Given the description of an element on the screen output the (x, y) to click on. 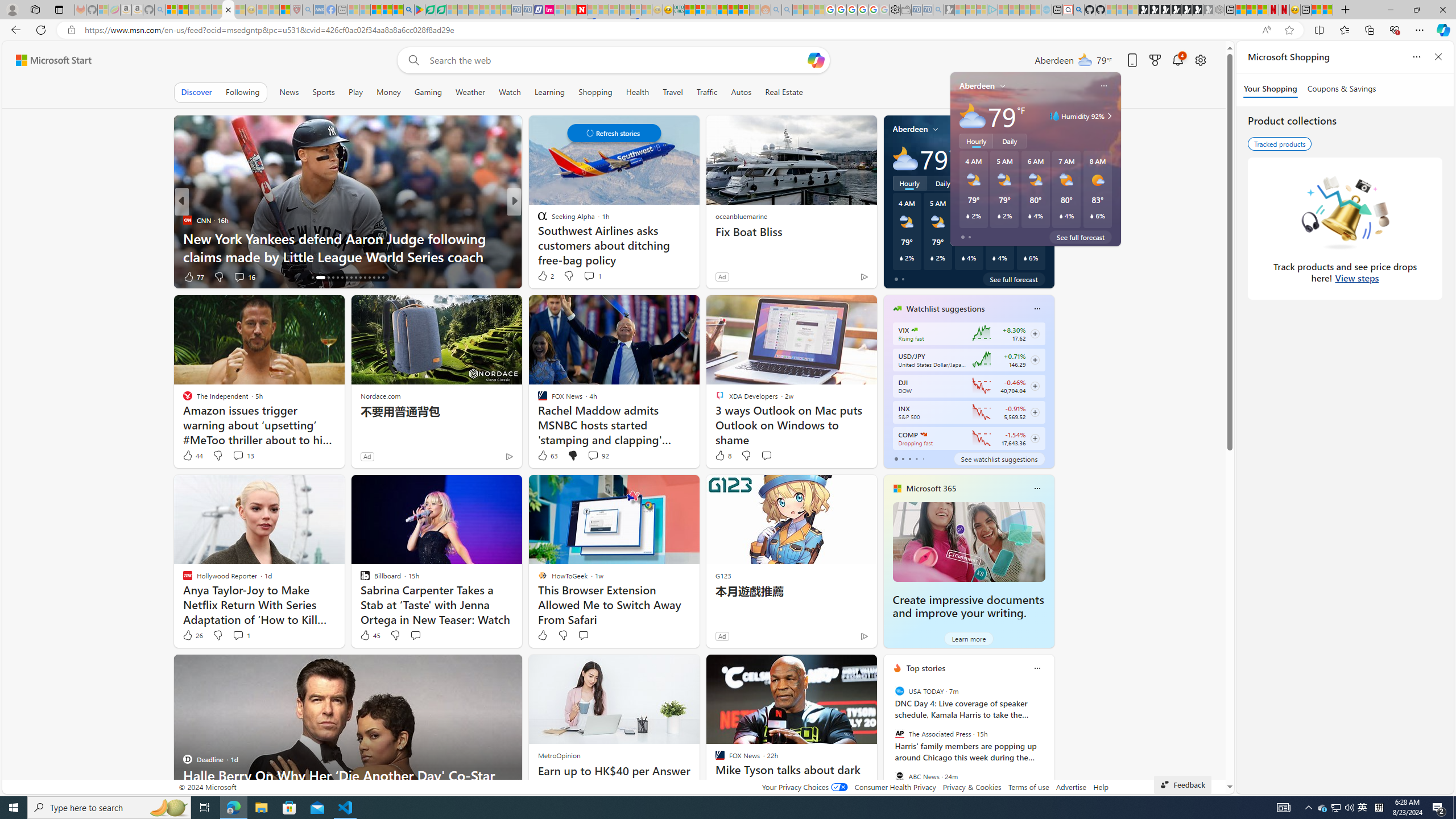
View comments 25 Comment (594, 276)
Daily (942, 183)
Jobs - lastminute.com Investor Portal (548, 9)
Latest Politics News & Archive | Newsweek.com (582, 9)
20 Like (543, 276)
Humidity 92% (1040, 158)
